Given the description of an element on the screen output the (x, y) to click on. 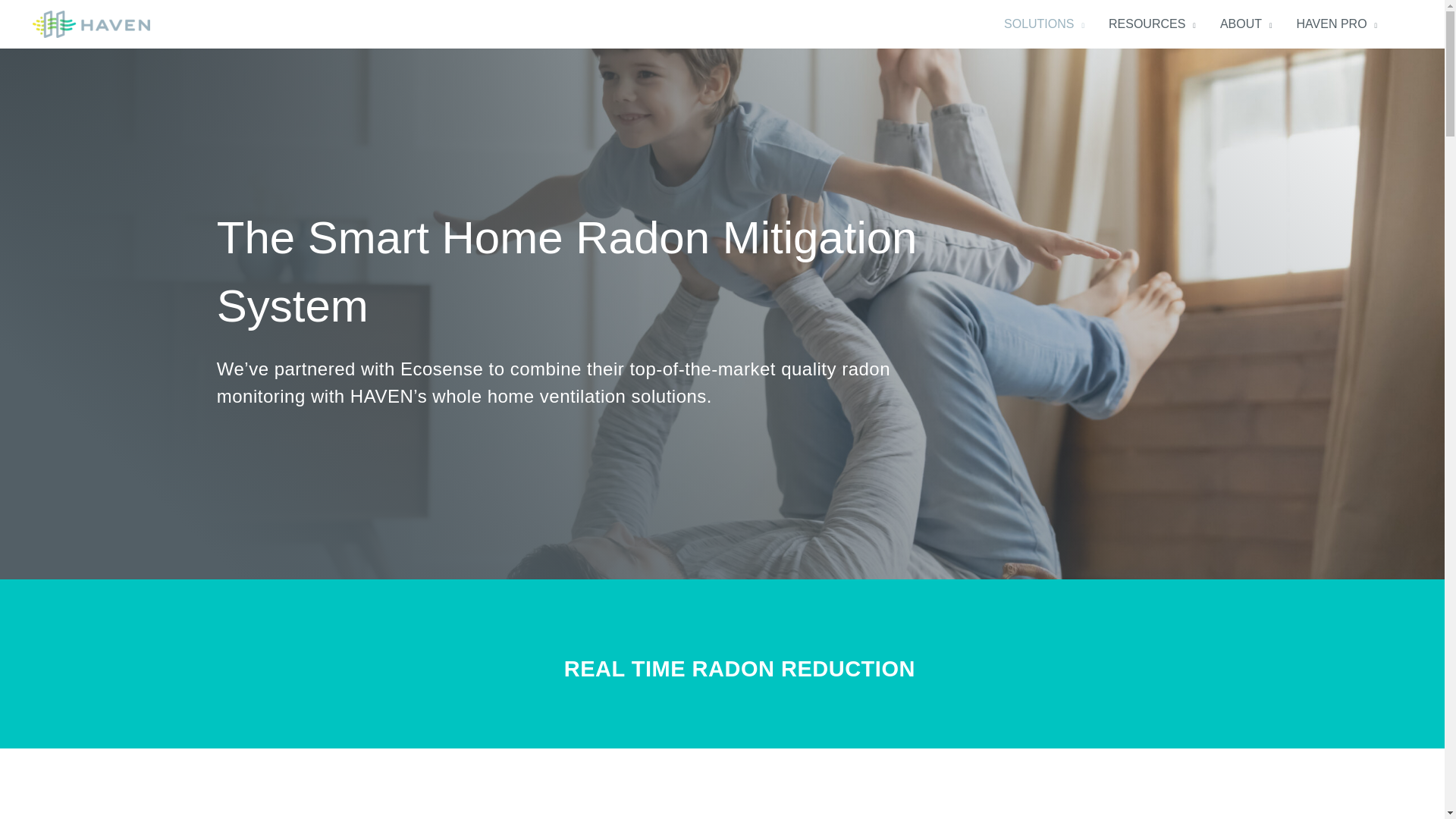
SOLUTIONS (1043, 24)
RESOURCES (1152, 24)
ABOUT (1246, 24)
HAVEN PRO (1337, 24)
